Given the description of an element on the screen output the (x, y) to click on. 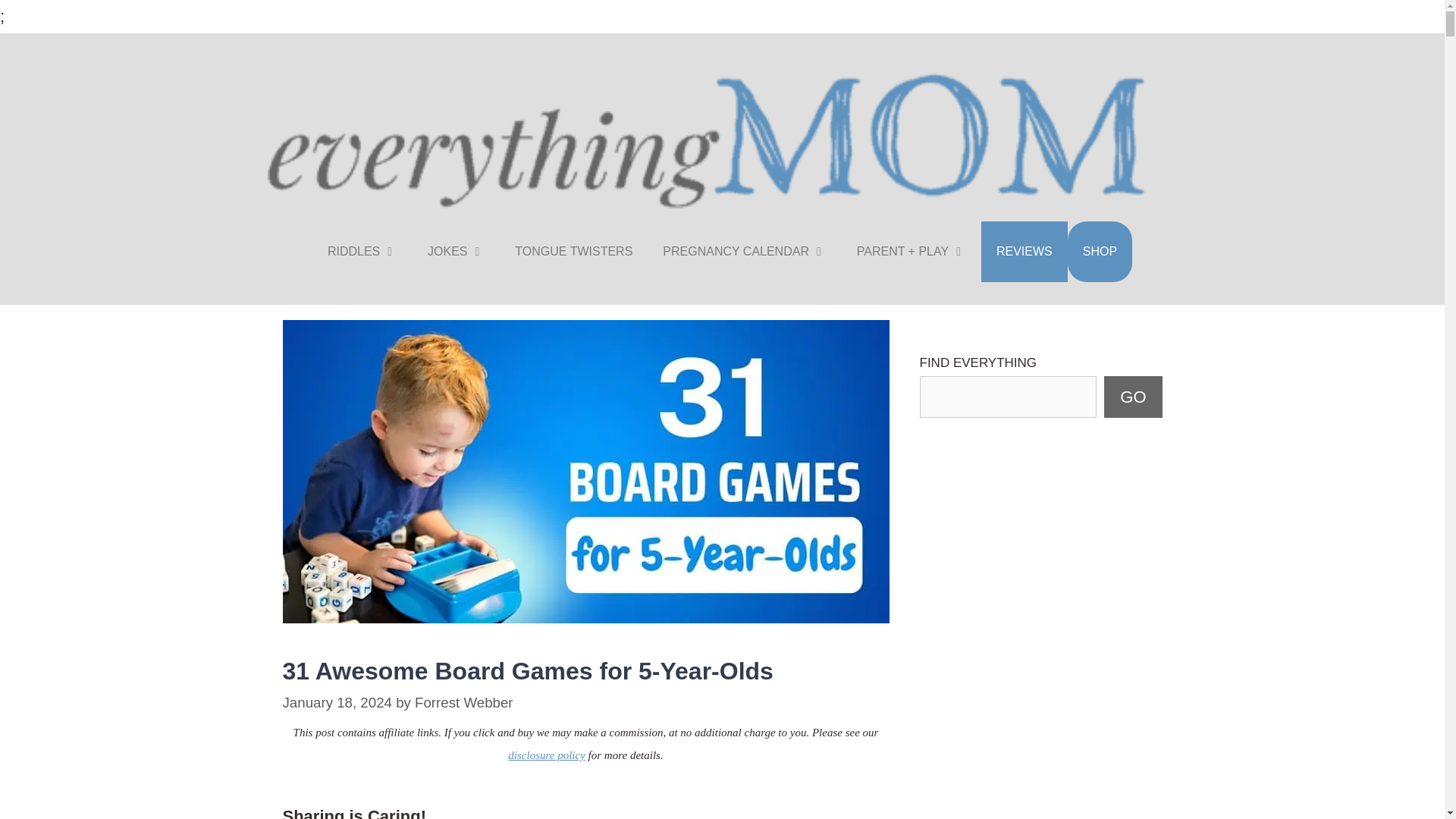
JOKES (455, 251)
PREGNANCY CALENDAR (744, 251)
RIDDLES (362, 251)
TONGUE TWISTERS (573, 251)
View all posts by Forrest Webber (463, 702)
